Given the description of an element on the screen output the (x, y) to click on. 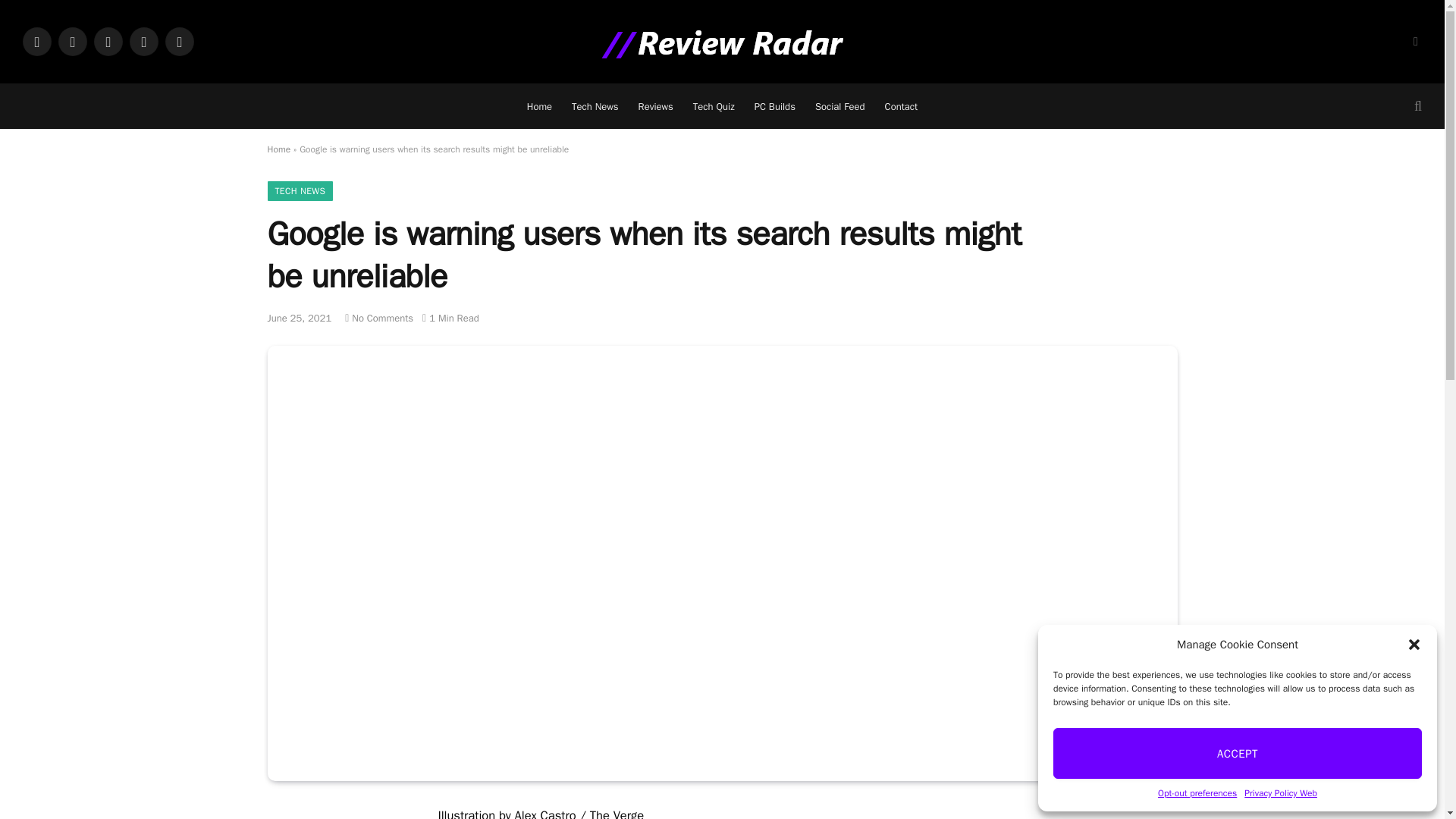
Home (539, 105)
Contact us (901, 105)
Switch to Dark Design - easier on eyes. (1414, 41)
Telegram (143, 41)
ACCEPT (1237, 753)
Facebook (36, 41)
Review Radar (721, 41)
Tech Quiz (713, 105)
Opt-out preferences (1196, 793)
Contact (901, 105)
